Given the description of an element on the screen output the (x, y) to click on. 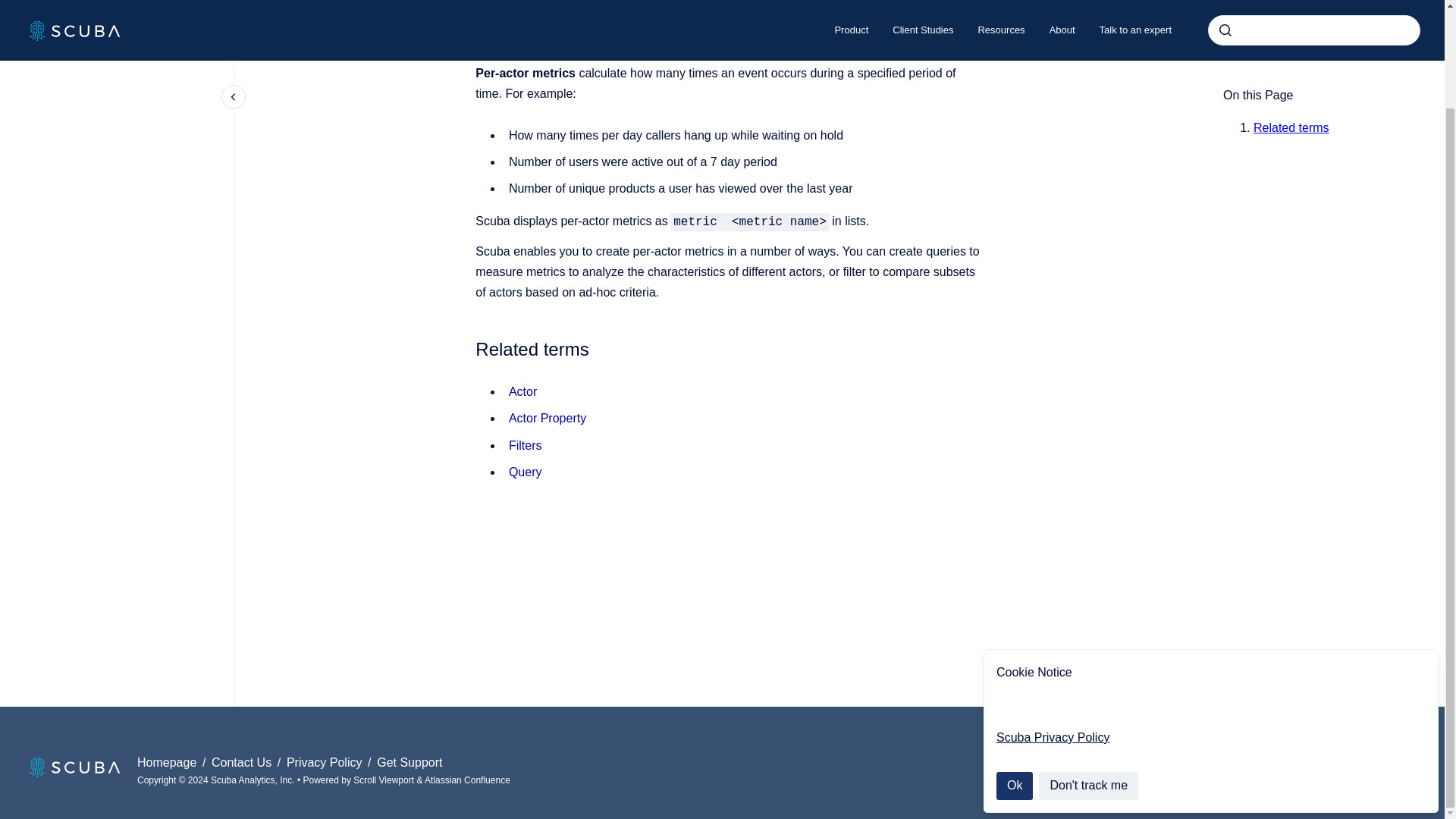
Get Support (409, 762)
Ok (1013, 672)
Privacy Policy (325, 762)
Contact Us (243, 762)
Homepage (168, 762)
Scroll Viewport (384, 779)
Actor (522, 391)
Scuba Privacy Policy (1052, 623)
Actor Property (547, 418)
Query (524, 472)
Don't track me (1088, 672)
Atlassian Confluence (468, 779)
Filters (524, 445)
